Given the description of an element on the screen output the (x, y) to click on. 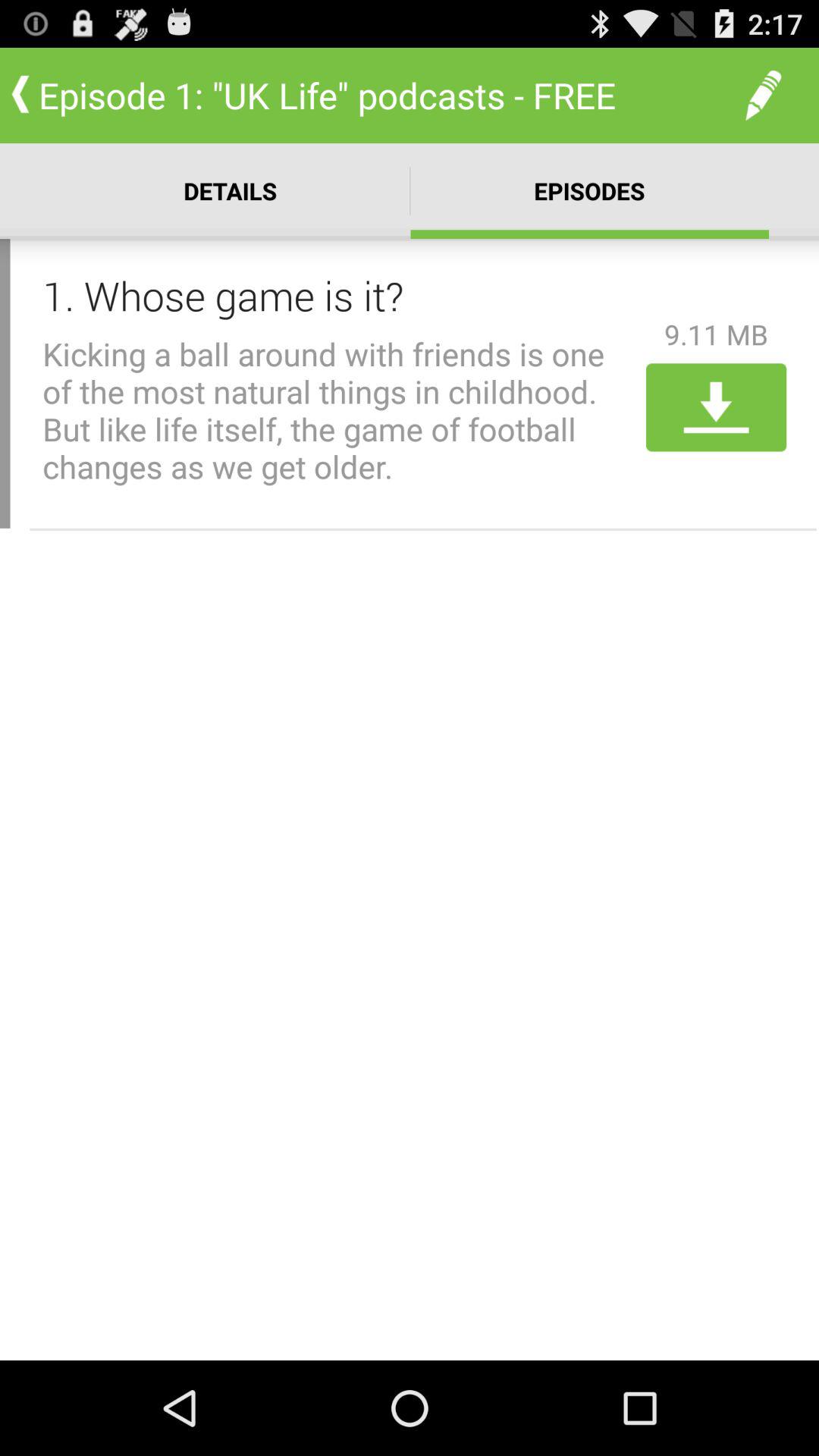
select the icon next to the 1 whose game app (716, 334)
